Given the description of an element on the screen output the (x, y) to click on. 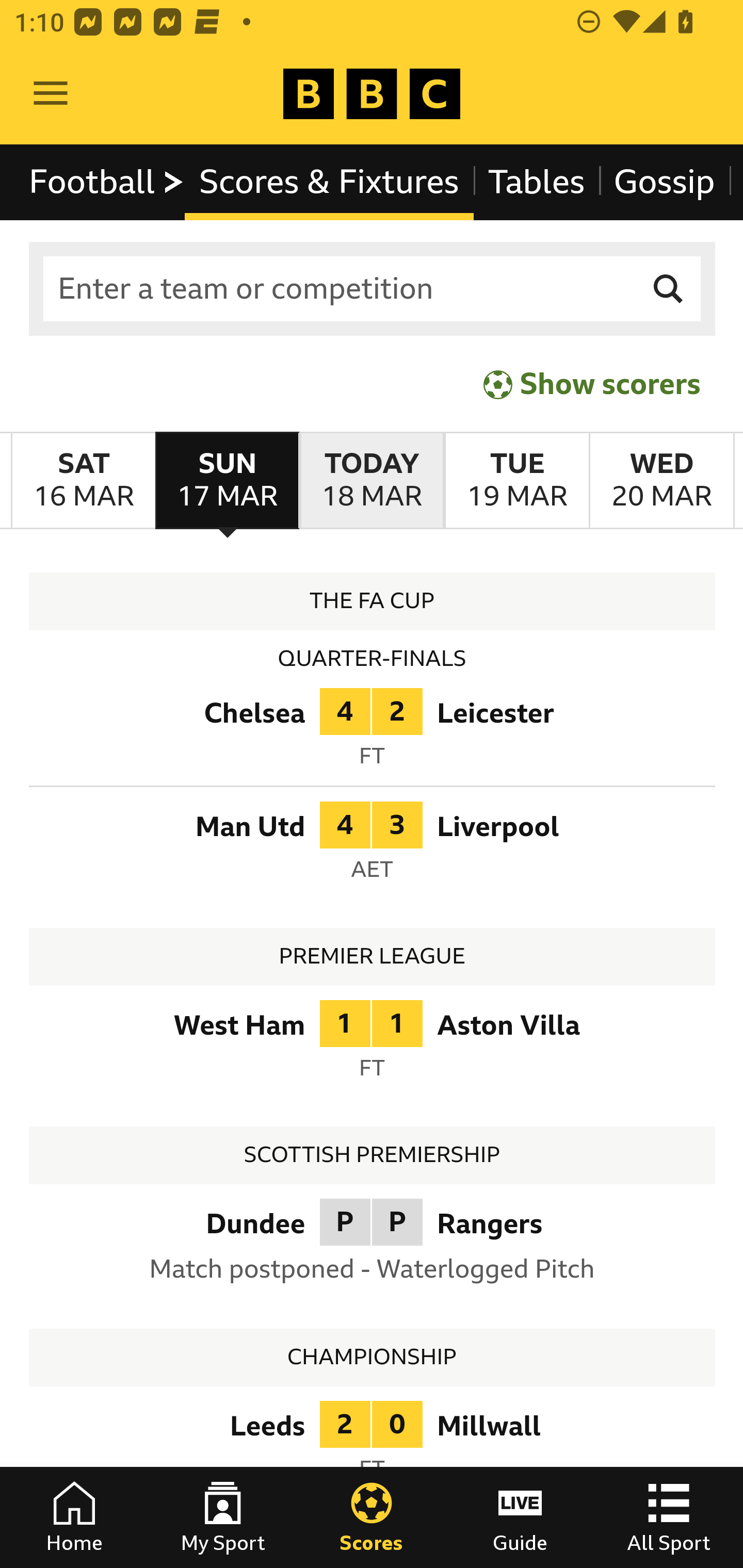
Open Menu (50, 93)
Football  (106, 181)
Scores & Fixtures (329, 181)
Tables (536, 181)
Gossip (664, 181)
Search (669, 289)
Show scorers (591, 383)
SaturdayMarch 16th Saturday March 16th (83, 480)
TodayMarch 18th Today March 18th (371, 480)
TuesdayMarch 19th Tuesday March 19th (516, 480)
WednesdayMarch 20th Wednesday March 20th (661, 480)
68573301 Chelsea 4 Leicester City 2 Full Time (372, 732)
68573308 Manchester United 4 Liverpool 3 AET (372, 847)
68526441 West Ham United 1 Aston Villa 1 Full Time (372, 1044)
68526392 Leeds United 2 Millwall 0 Full Time (372, 1446)
Home (74, 1517)
My Sport (222, 1517)
Guide (519, 1517)
All Sport (668, 1517)
